Given the description of an element on the screen output the (x, y) to click on. 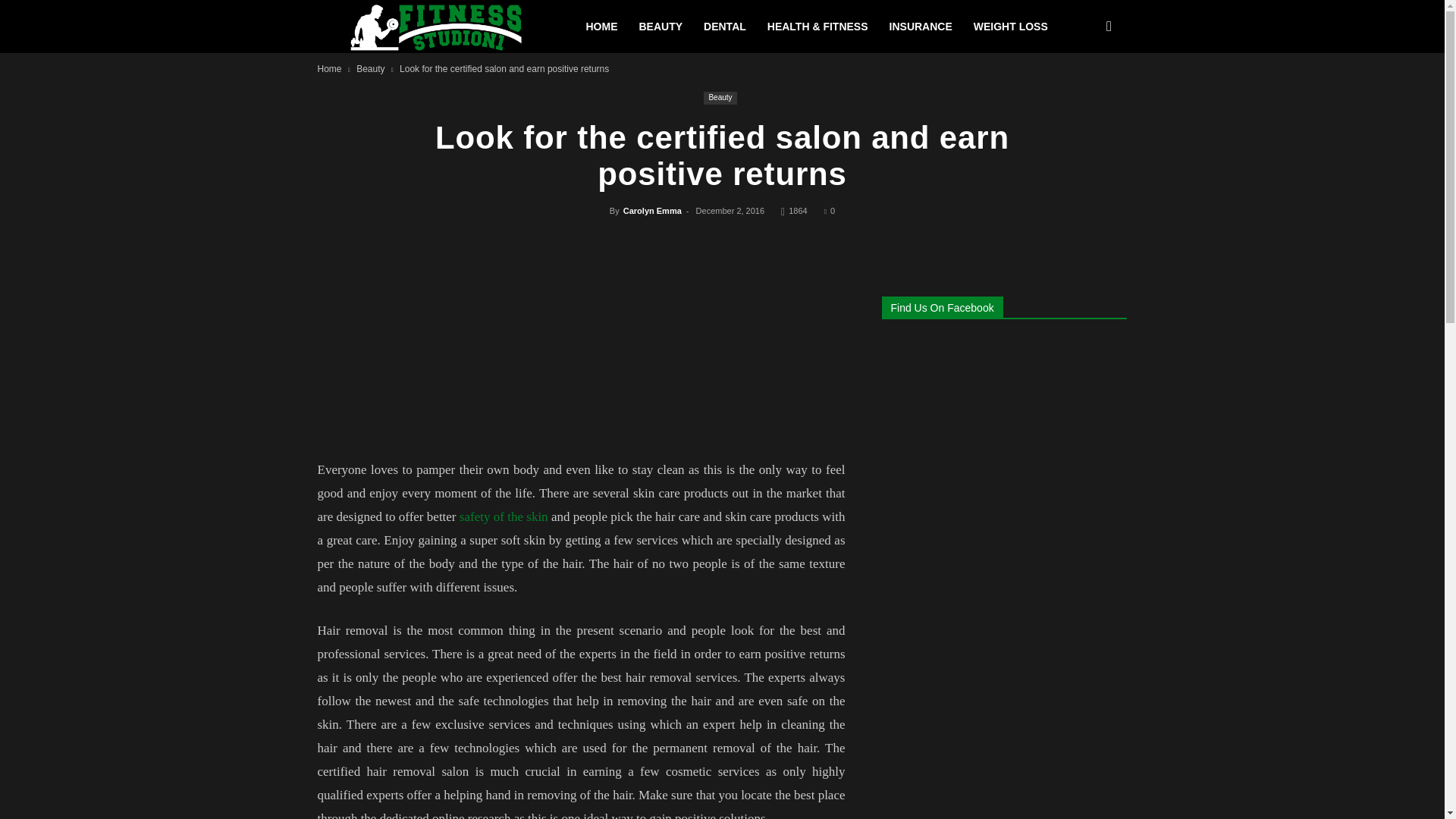
DENTAL (725, 26)
HOME (601, 26)
BEAUTY (660, 26)
0 (829, 210)
WEIGHT LOSS (1010, 26)
Search (1083, 96)
Beauty (719, 97)
INSURANCE (920, 26)
safety of the skin (504, 516)
Beauty (370, 68)
Carolyn Emma (652, 210)
Home (328, 68)
View all posts in Beauty (370, 68)
